Given the description of an element on the screen output the (x, y) to click on. 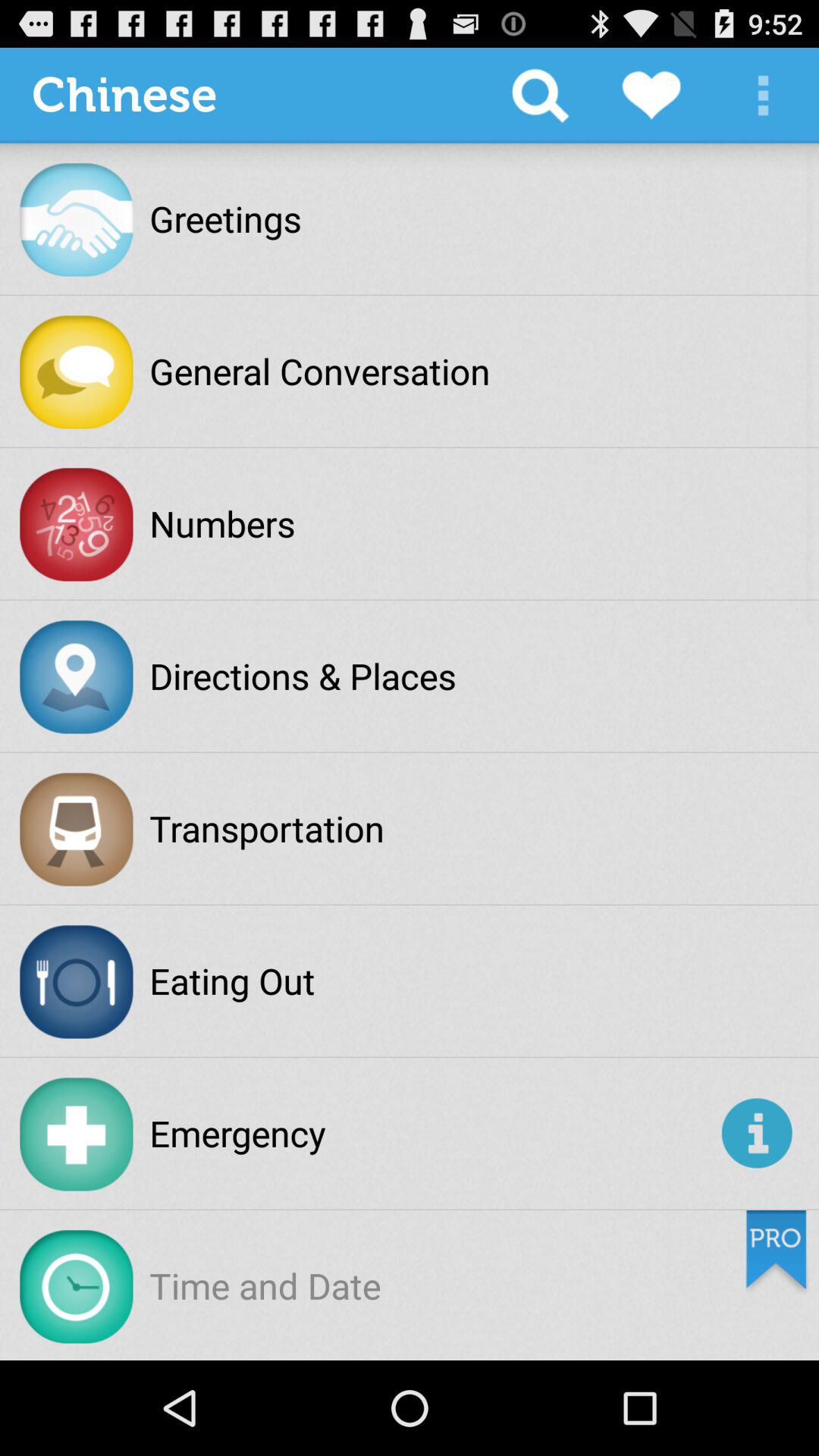
jump until the eating out icon (232, 980)
